Given the description of an element on the screen output the (x, y) to click on. 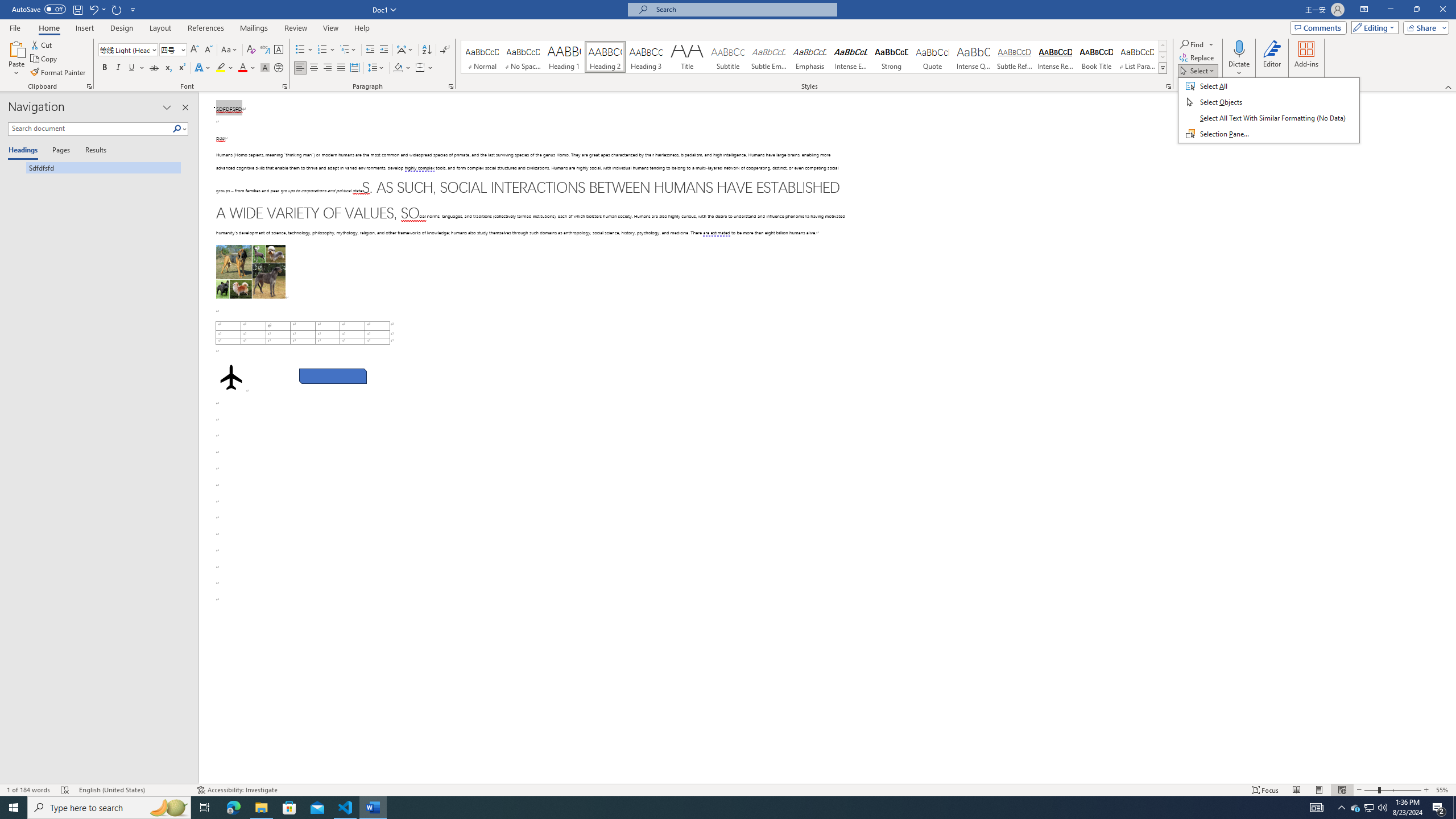
&Select (1268, 109)
Heading 3 (646, 56)
